Given the description of an element on the screen output the (x, y) to click on. 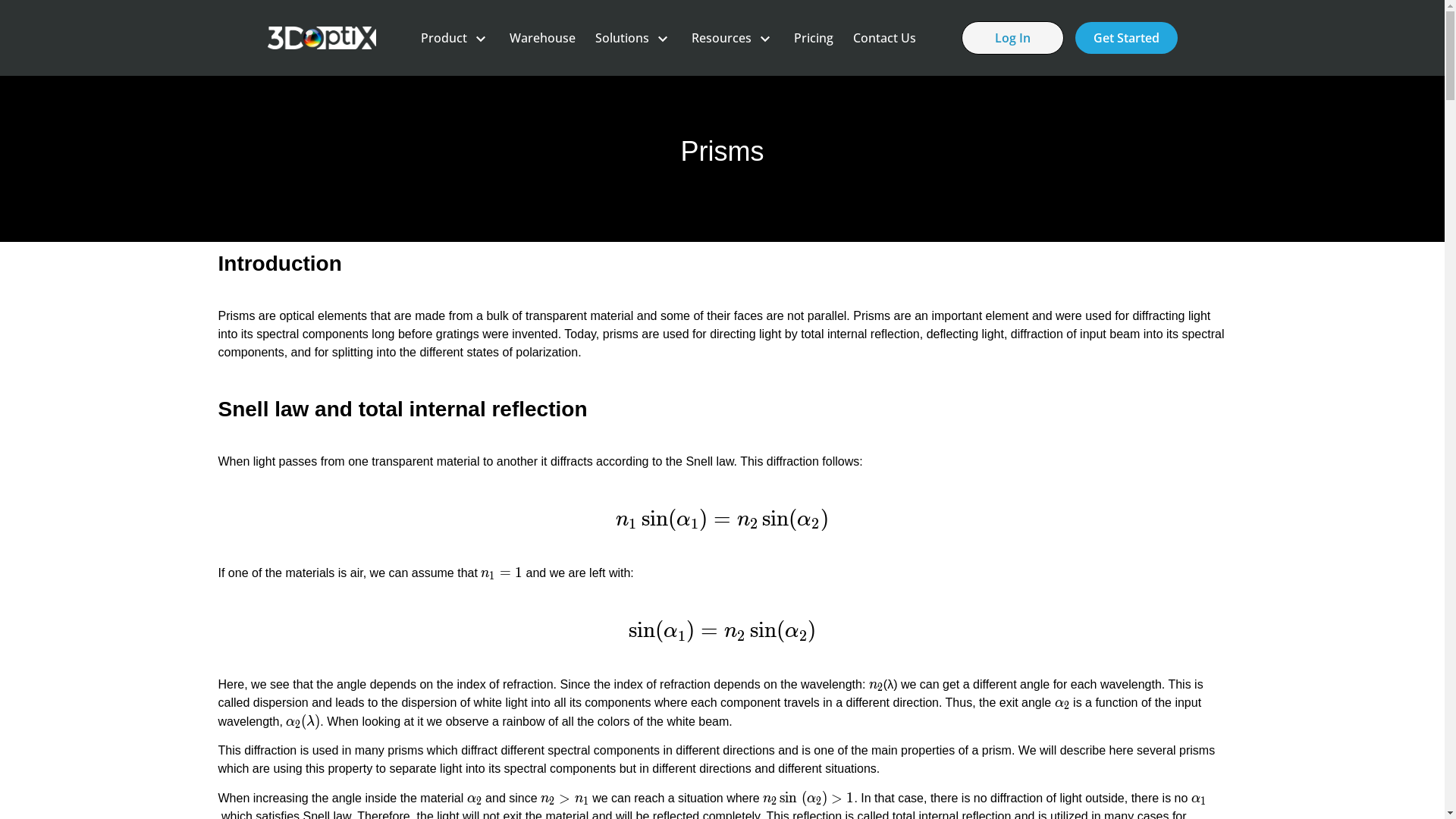
Get Started Element type: text (1126, 37)
Log In Element type: text (1012, 37)
Product Element type: text (454, 37)
Warehouse Element type: text (542, 37)
Pricing Element type: text (813, 37)
Contact Us Element type: text (884, 37)
Resources Element type: text (732, 37)
Solutions Element type: text (633, 37)
